Given the description of an element on the screen output the (x, y) to click on. 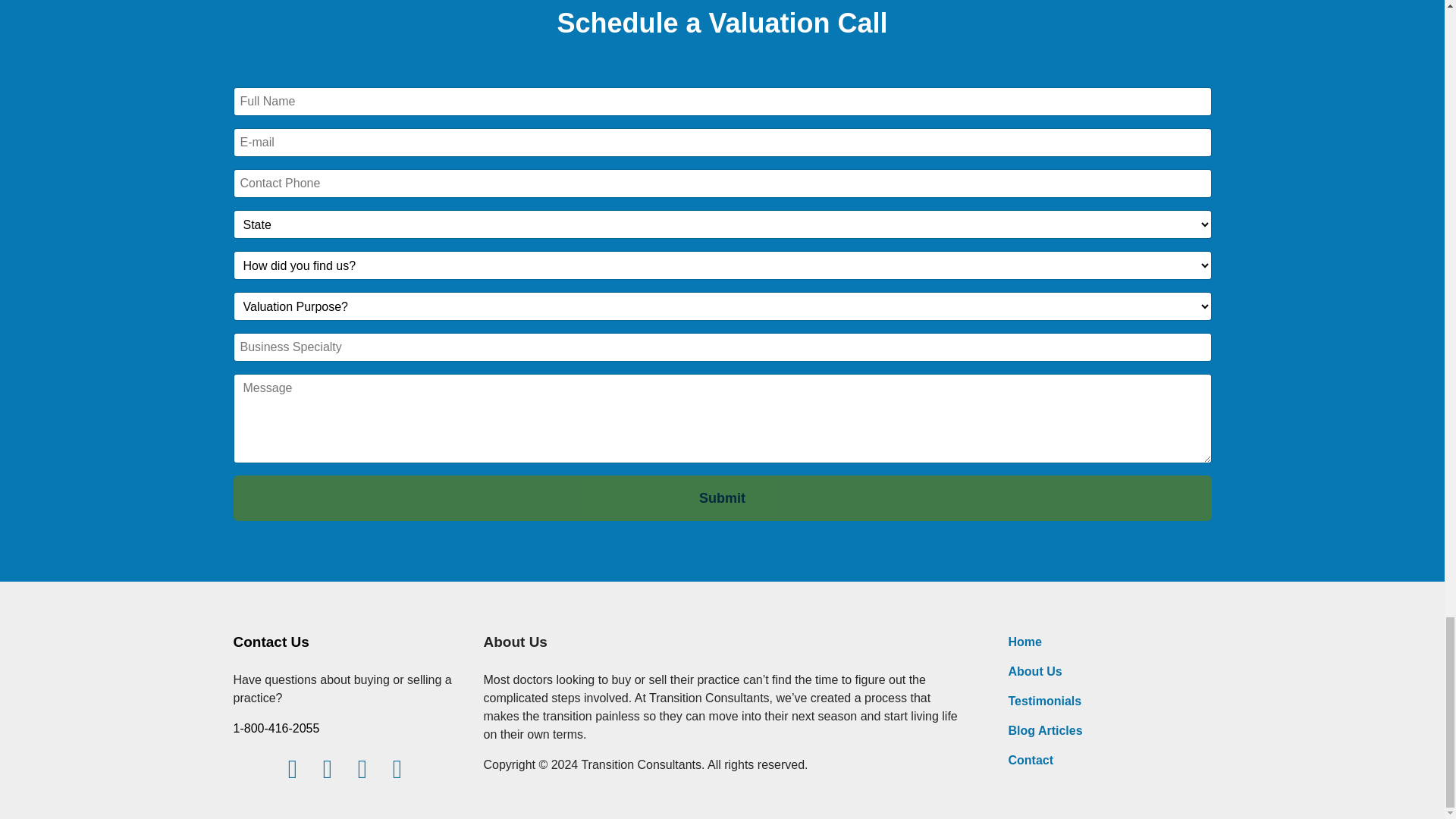
Contact (1031, 759)
Testimonials (1045, 700)
facebook (292, 769)
Blog Articles (1046, 730)
linkedin (327, 769)
Home (1025, 641)
Submit (721, 497)
Contact Us (270, 641)
youtube (397, 769)
About Us (1035, 671)
twitter (362, 769)
1-800-416-2055 (276, 727)
